Given the description of an element on the screen output the (x, y) to click on. 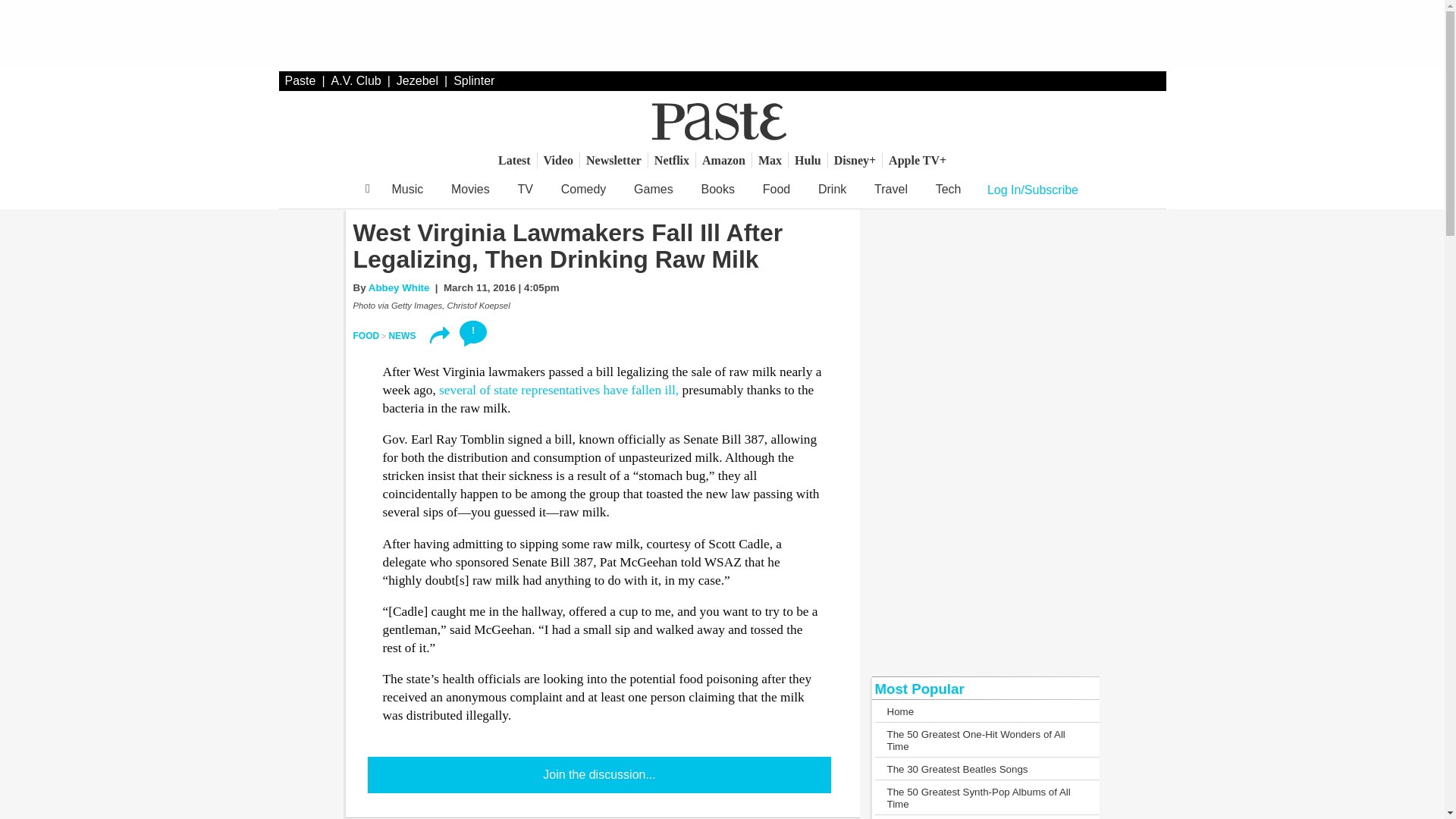
Splinter (473, 80)
Paste (300, 80)
Netflix (671, 160)
Video (558, 160)
Jezebel (417, 80)
Latest (514, 160)
Newsletter (613, 160)
Max (769, 160)
Hulu (808, 160)
Amazon (723, 160)
A.V. Club (356, 80)
